Given the description of an element on the screen output the (x, y) to click on. 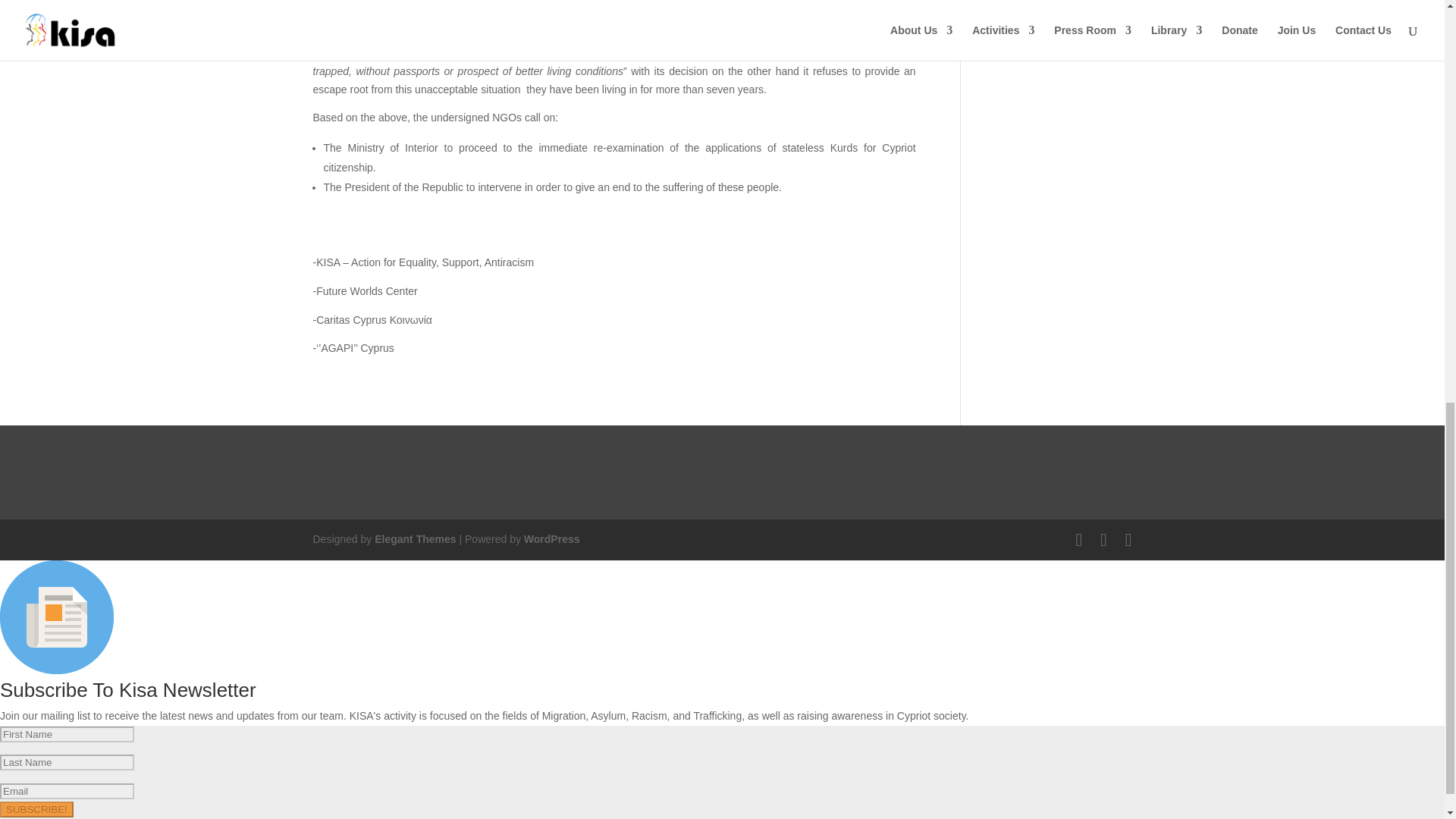
Premium WordPress Themes (414, 539)
